Given the description of an element on the screen output the (x, y) to click on. 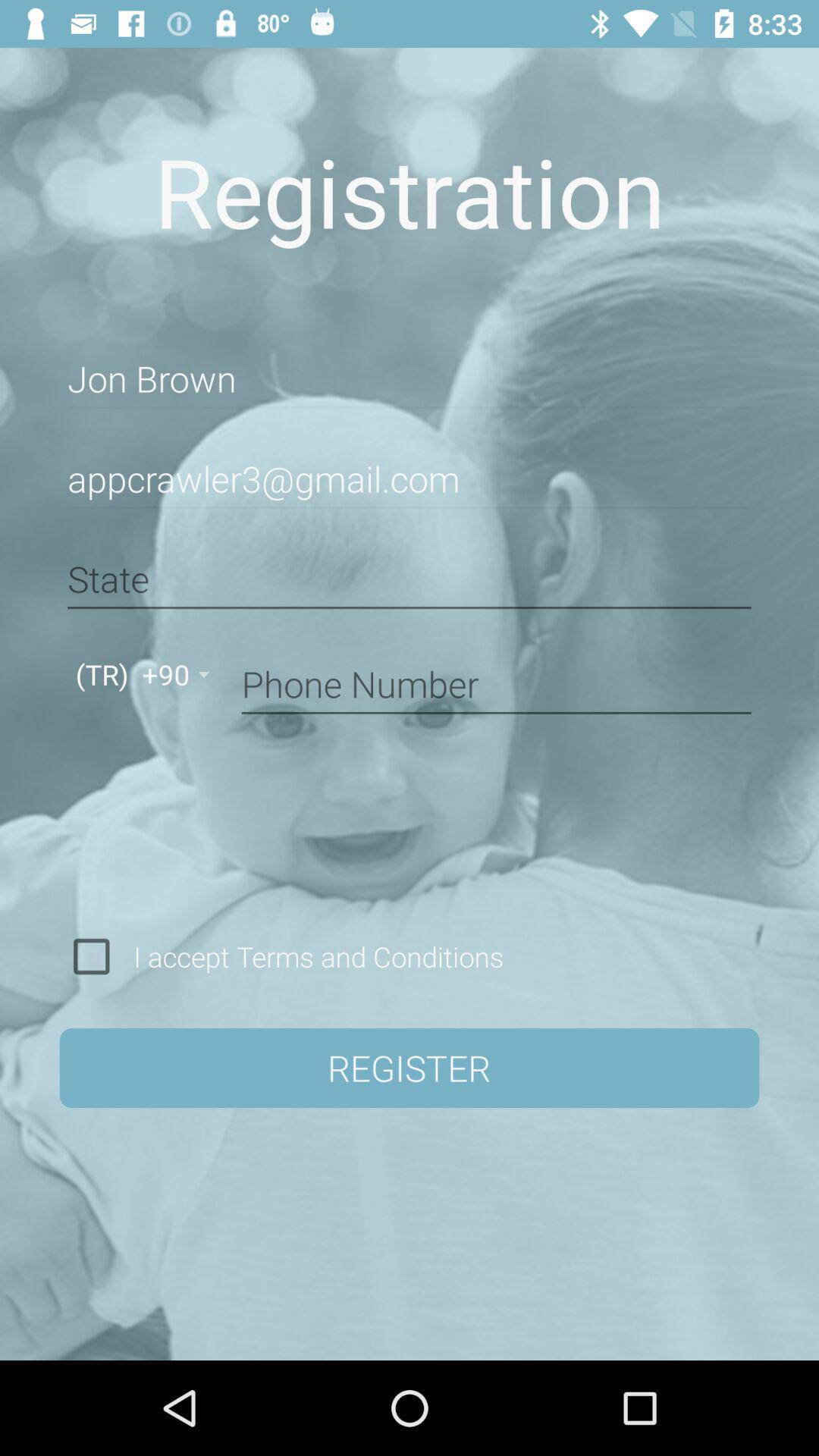
indicate you accept terms and conditions (91, 956)
